Given the description of an element on the screen output the (x, y) to click on. 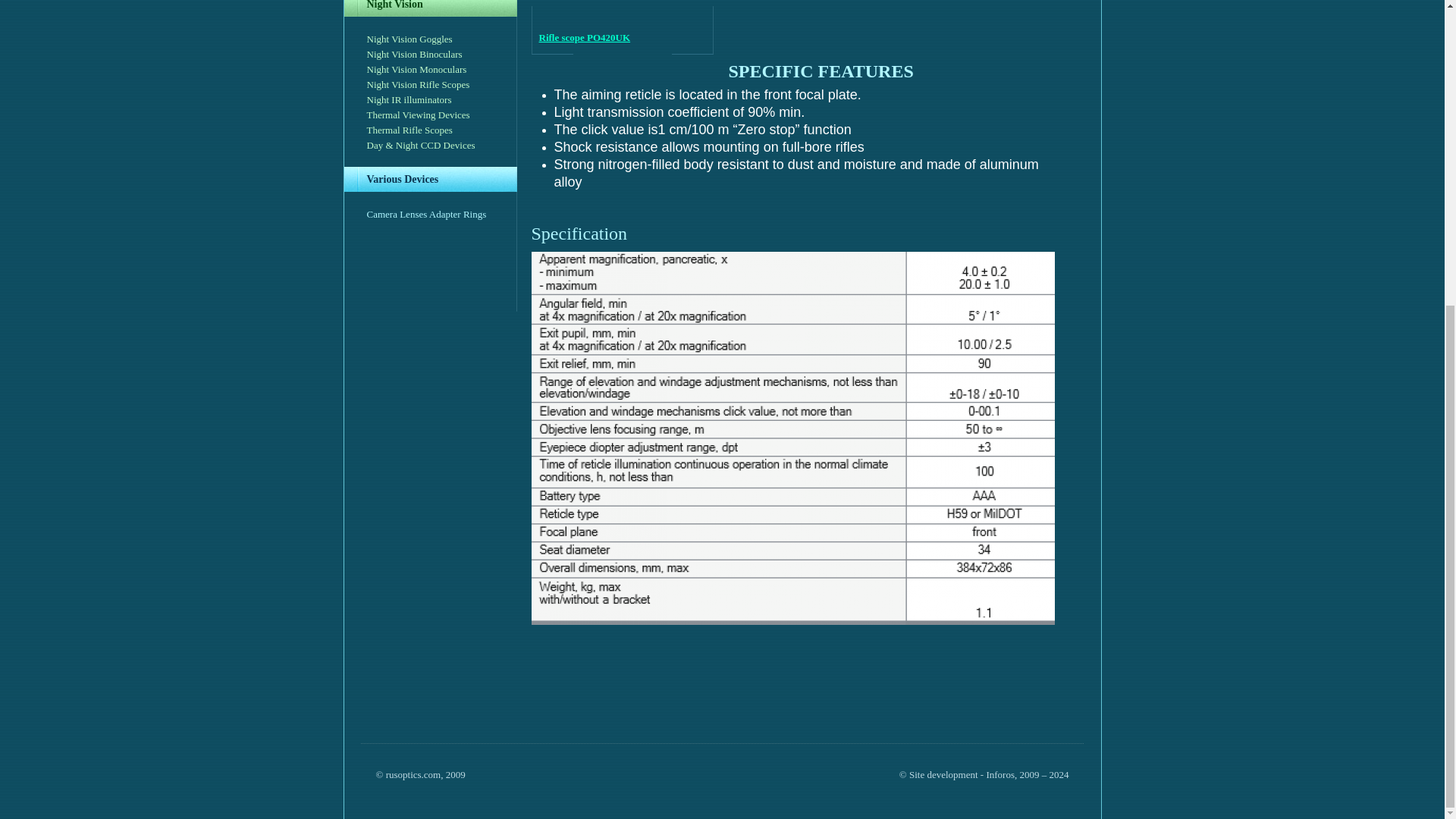
Night Vision Binoculars (414, 53)
Thermal Rifle Scopes (409, 129)
Night IR illuminators (408, 99)
Thermal Viewing Devices (418, 114)
Google conversion frame (75, 403)
Night Vision Rifle Scopes (418, 84)
Night Vision Goggles (409, 39)
Camera Lenses Adapter Rings (426, 214)
Night Vision Monoculars (416, 69)
